Given the description of an element on the screen output the (x, y) to click on. 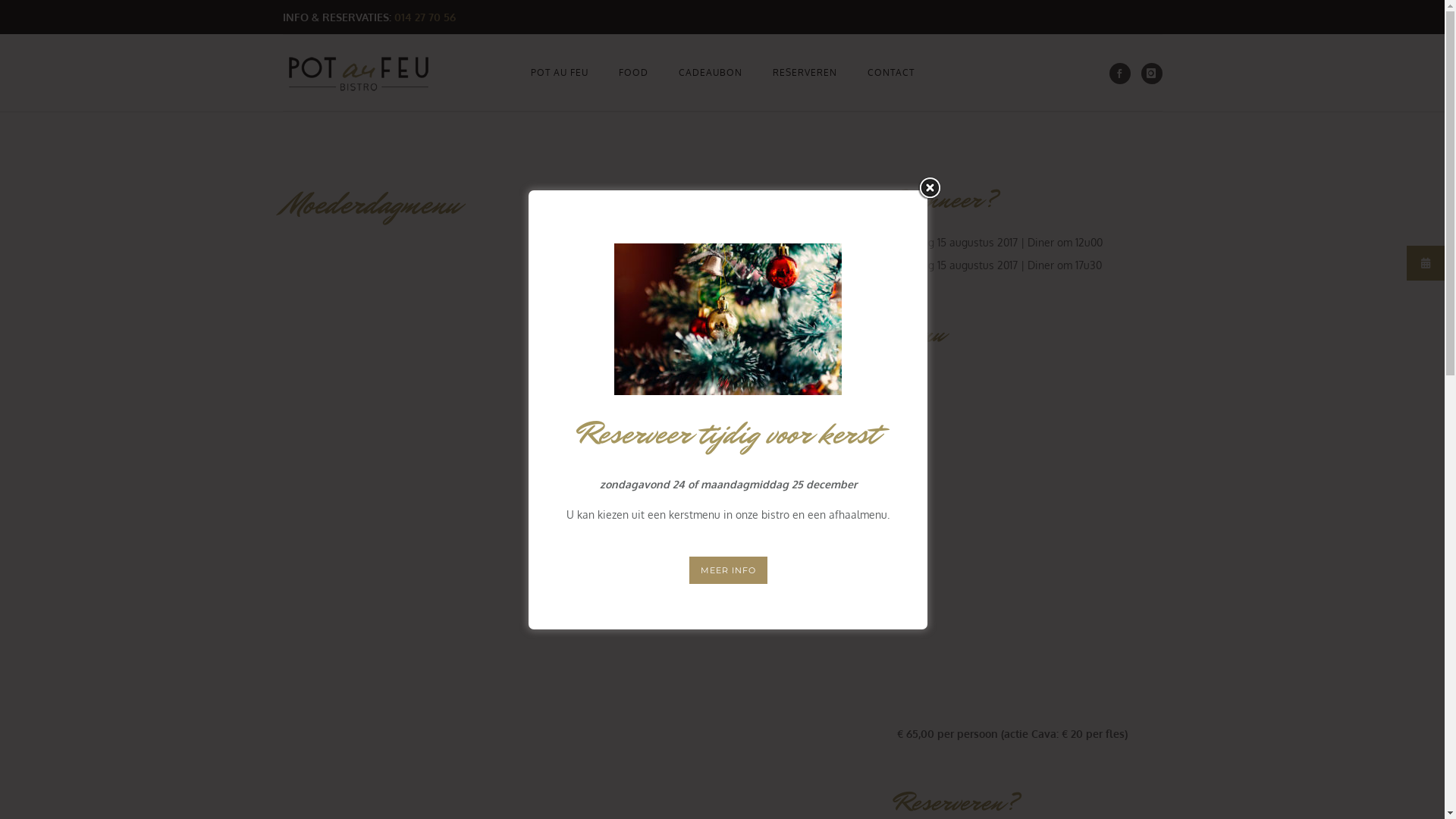
MEER INFO Element type: text (727, 569)
Sluiten Element type: hover (929, 186)
POT AU FEU Element type: text (559, 72)
014 27 70 56 Element type: text (424, 16)
RESERVEREN Element type: text (803, 72)
CONTACT Element type: text (890, 72)
FOOD Element type: text (633, 72)
CADEAUBON Element type: text (709, 72)
